Given the description of an element on the screen output the (x, y) to click on. 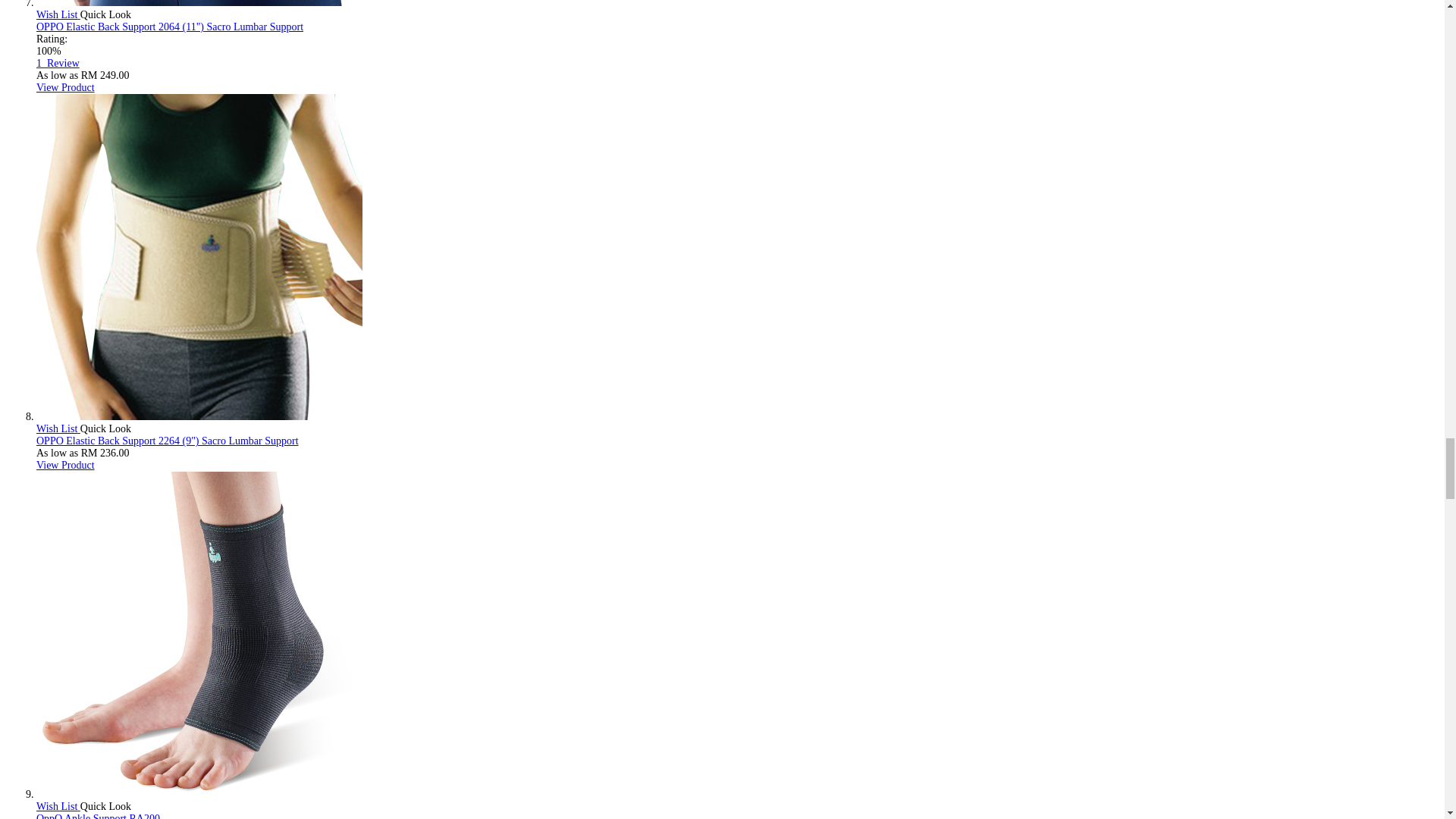
Wish List (58, 14)
Wish List (58, 428)
